Given the description of an element on the screen output the (x, y) to click on. 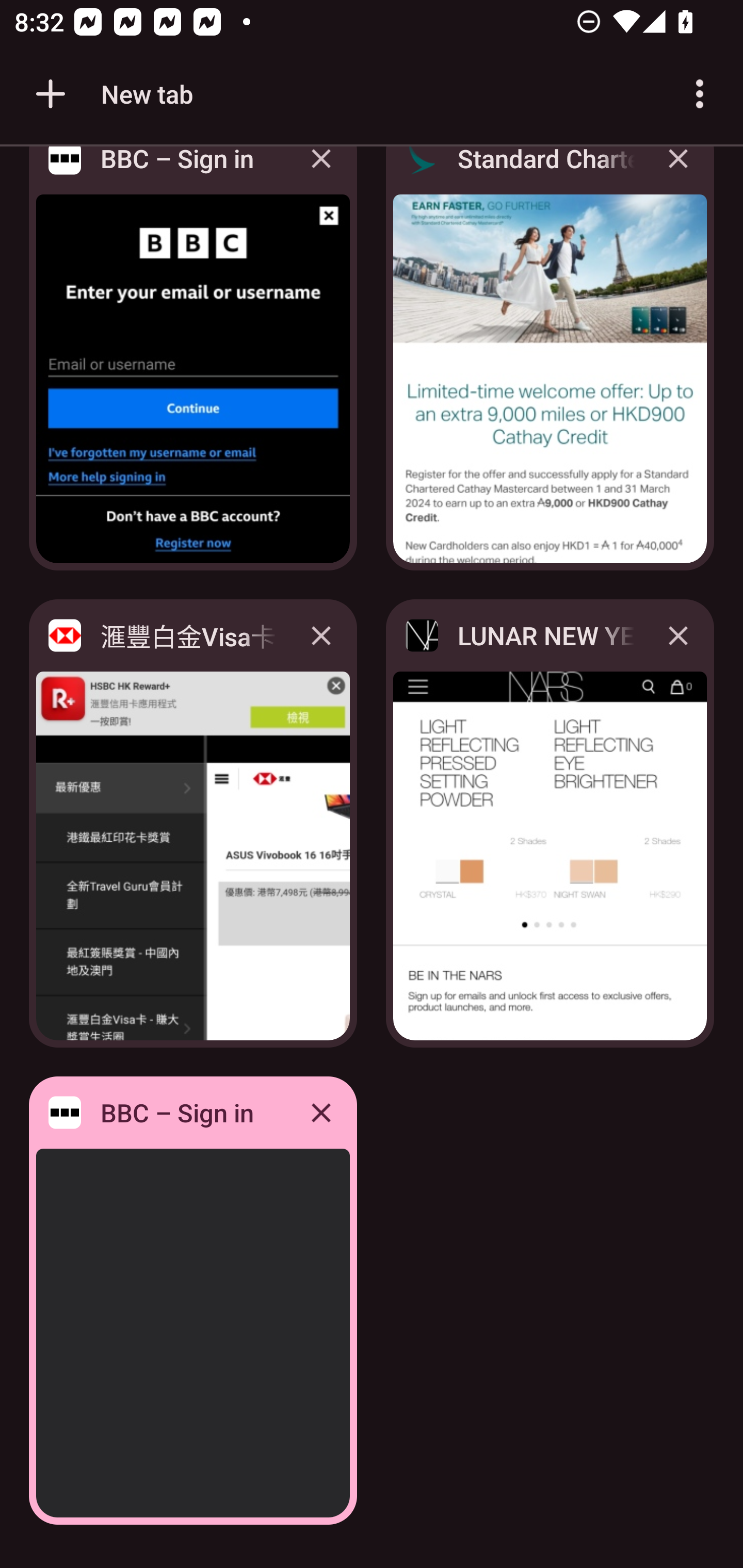
New tab (111, 93)
Customize and control Google Chrome (699, 93)
Close BBC – Sign in tab (320, 173)
Close 滙豐白金Visa卡 - 賺大獎賞生活圈 - 豐澤 tab (320, 635)
BBC – Sign in BBC – Sign in, tab Close  tab (192, 1300)
Close  tab (320, 1112)
